Given the description of an element on the screen output the (x, y) to click on. 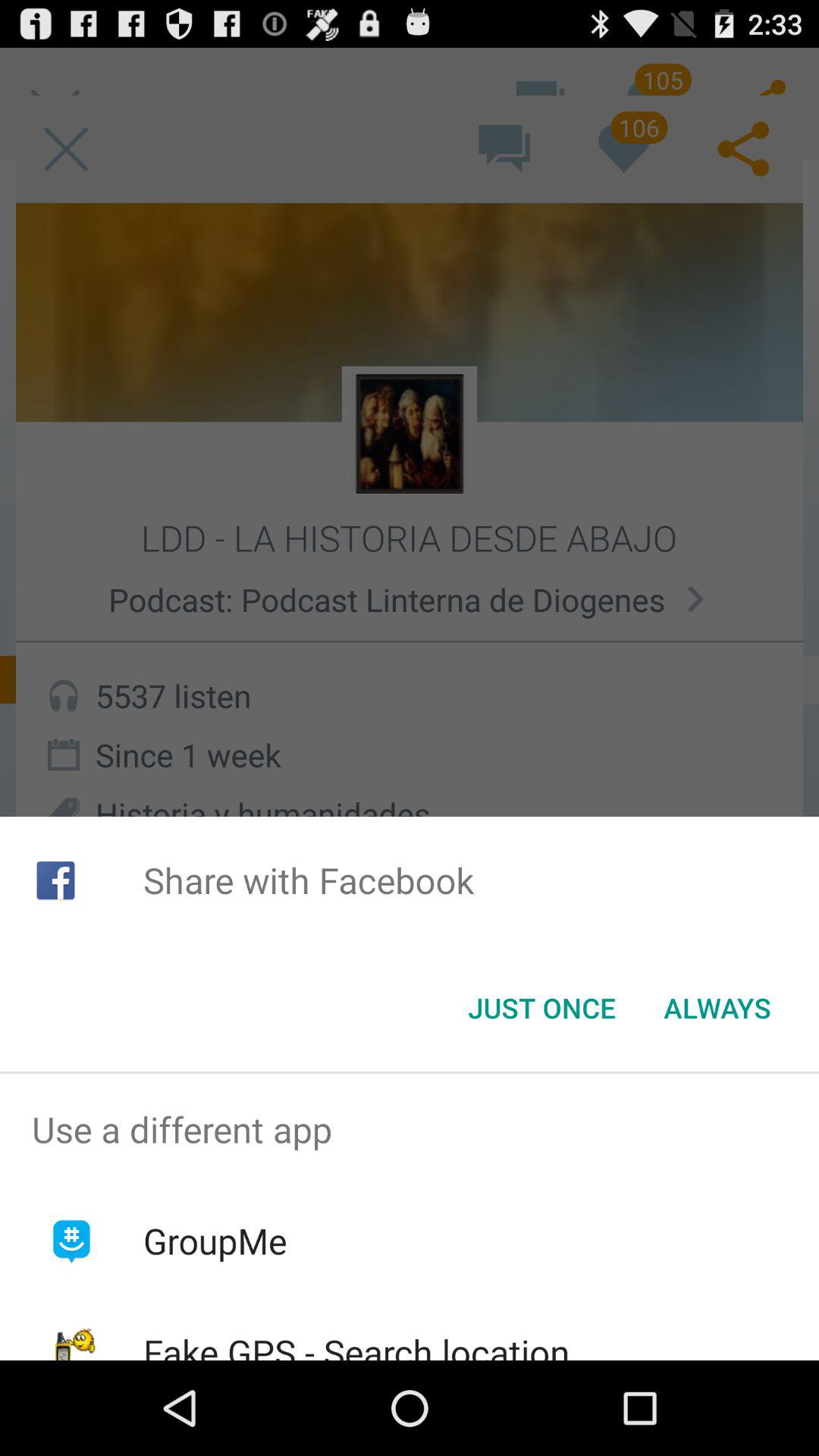
select the icon next to always (541, 1007)
